Given the description of an element on the screen output the (x, y) to click on. 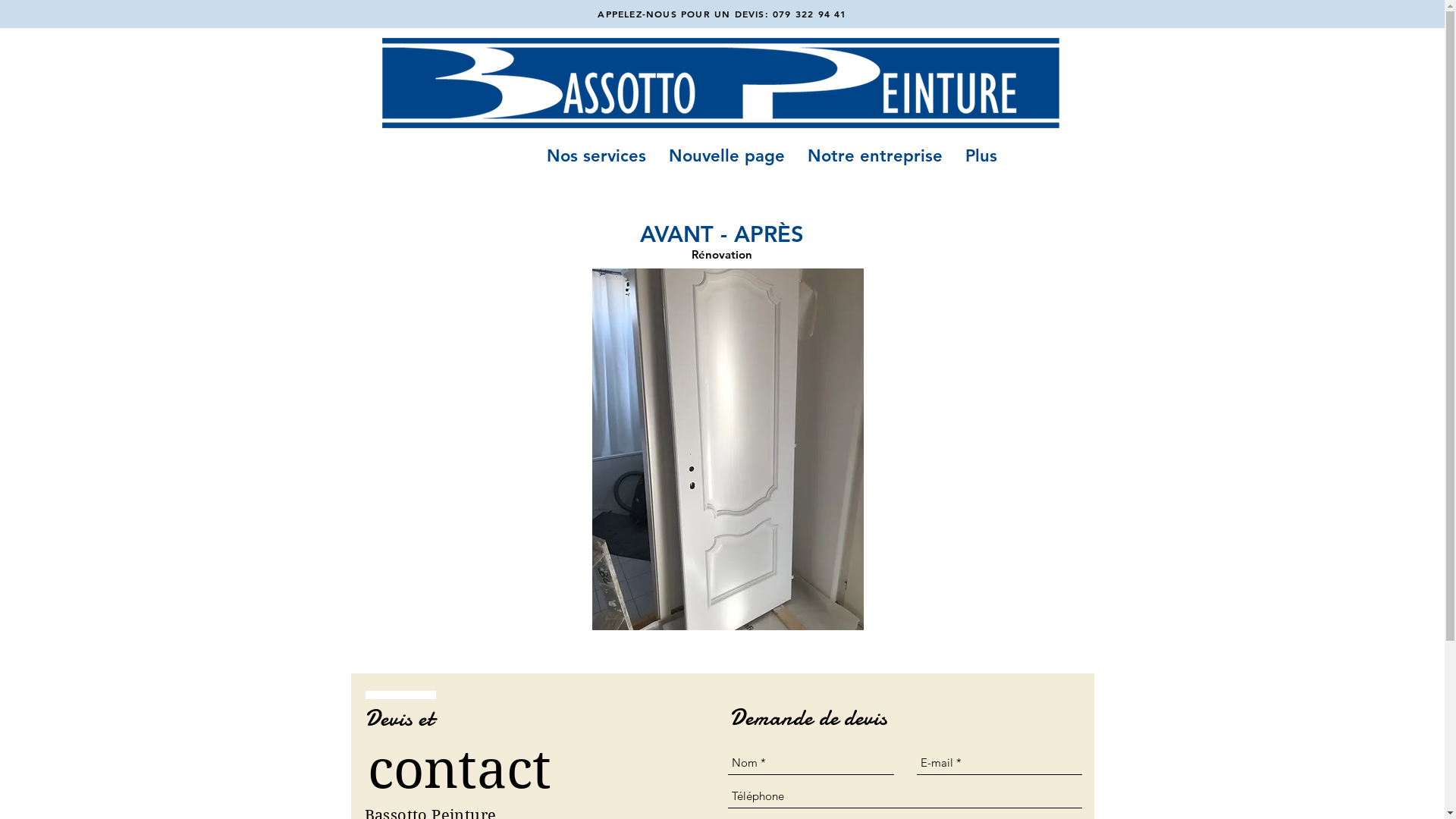
Nouvelle page Element type: text (725, 155)
Nos services Element type: text (596, 155)
Notre entreprise Element type: text (874, 155)
